Given the description of an element on the screen output the (x, y) to click on. 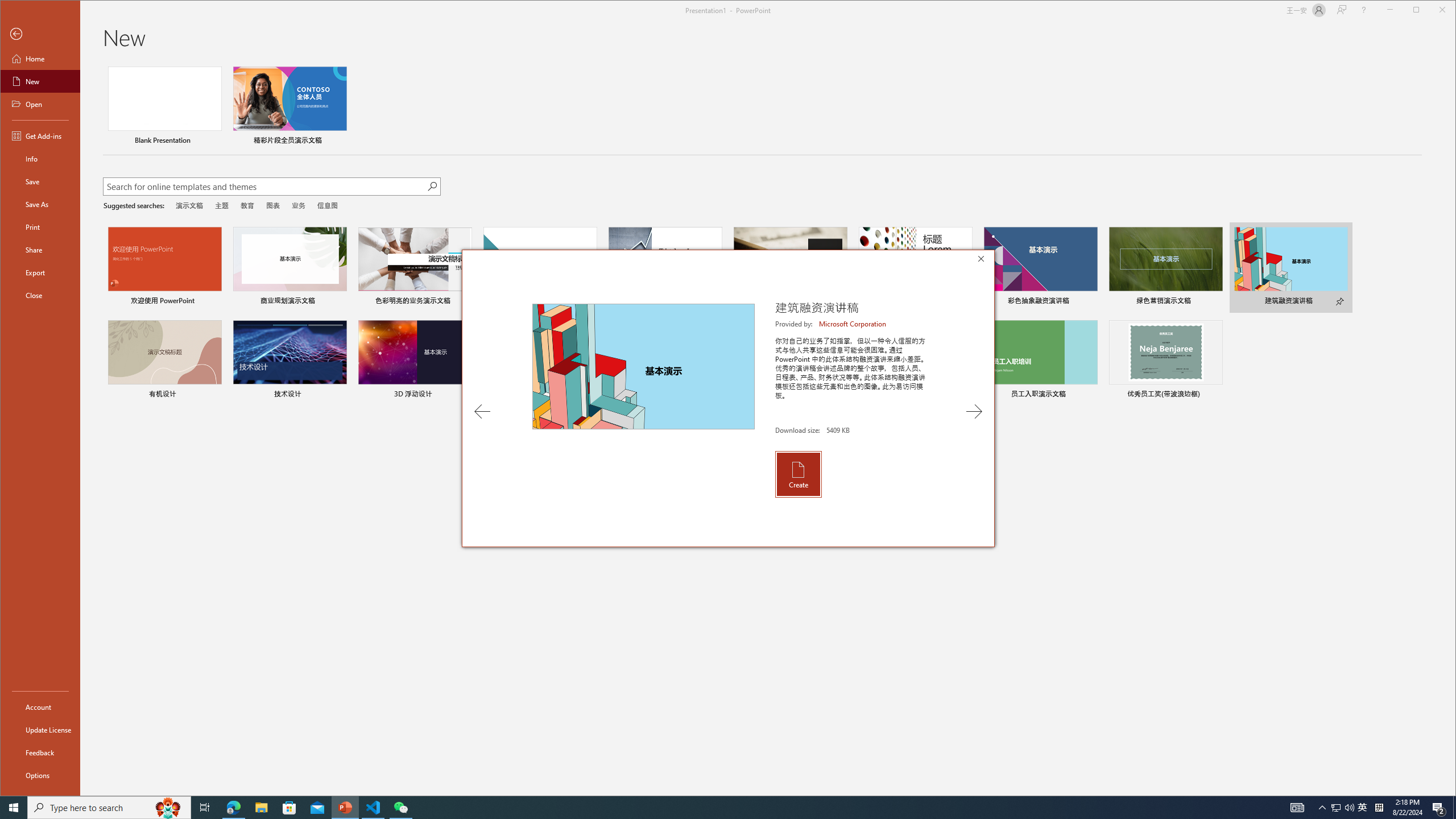
Start searching (431, 185)
Update License (40, 729)
